Given the description of an element on the screen output the (x, y) to click on. 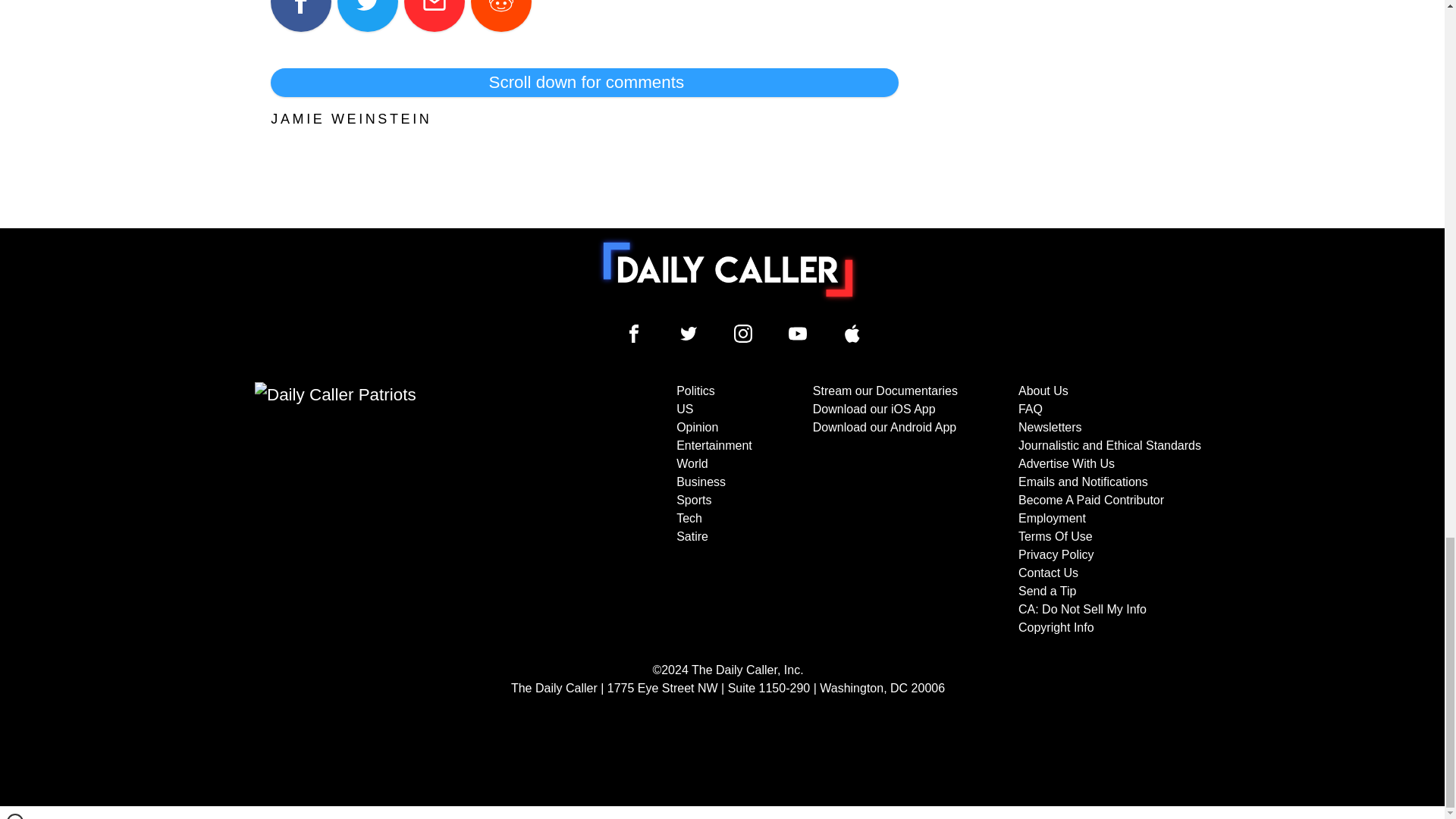
To home page (727, 269)
Daily Caller Instagram (742, 333)
Daily Caller Facebook (633, 333)
Daily Caller Twitter (688, 333)
Daily Caller YouTube (852, 333)
Scroll down for comments (584, 82)
Subscribe to The Daily Caller (405, 509)
Daily Caller YouTube (797, 333)
